Given the description of an element on the screen output the (x, y) to click on. 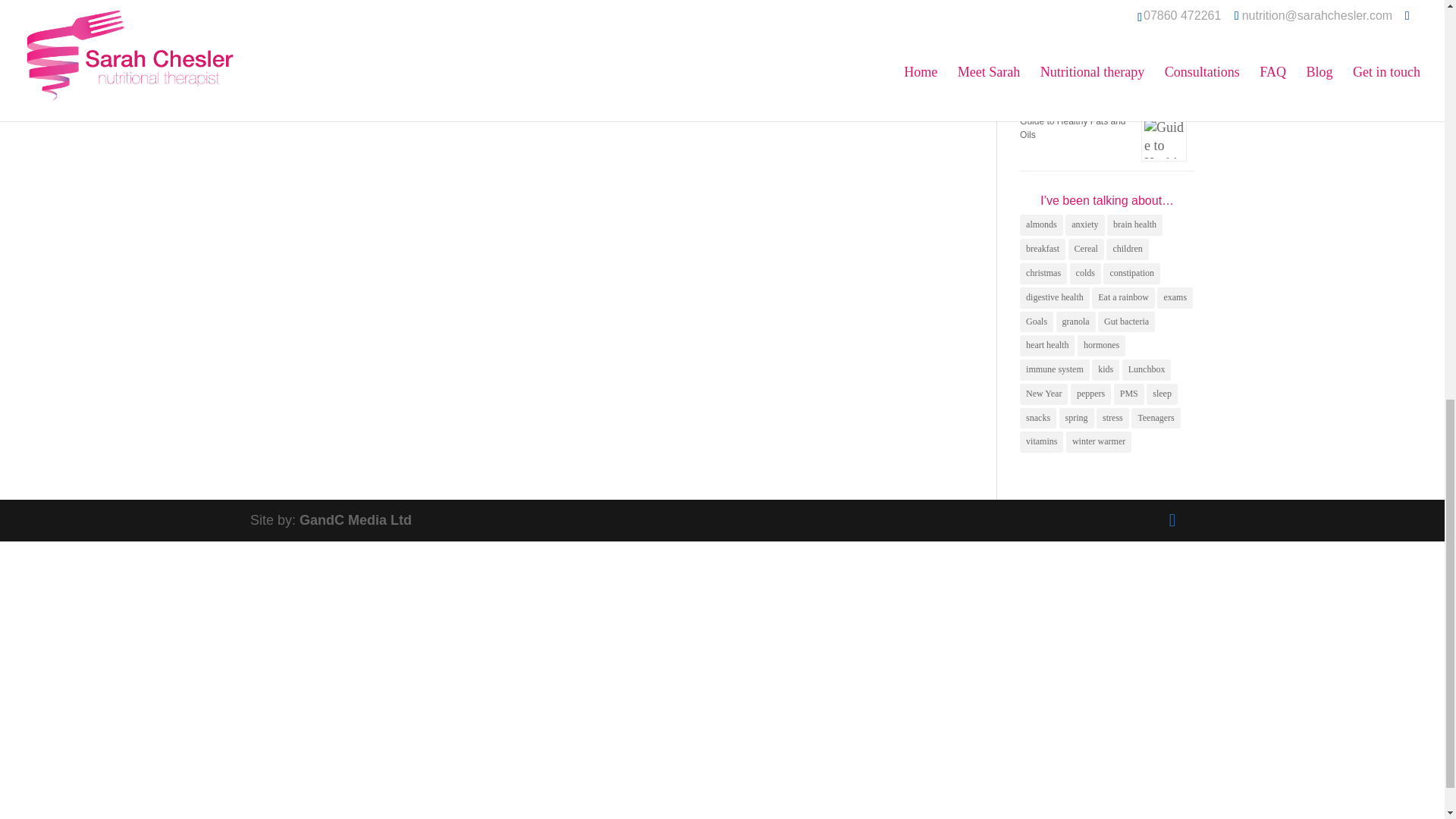
almonds (1041, 224)
children (1127, 249)
Cereal (1085, 249)
Goals (1036, 321)
Constipated? Strategies to Get Things Going. (1073, 61)
Eat a rainbow (1123, 297)
colds (1085, 273)
anxiety (1084, 224)
christmas (1043, 273)
breakfast (1042, 249)
Guide to Healthy Fats and Oils (1072, 128)
digestive health (1054, 297)
exams (1174, 297)
constipation (1131, 273)
brain health (1133, 224)
